Given the description of an element on the screen output the (x, y) to click on. 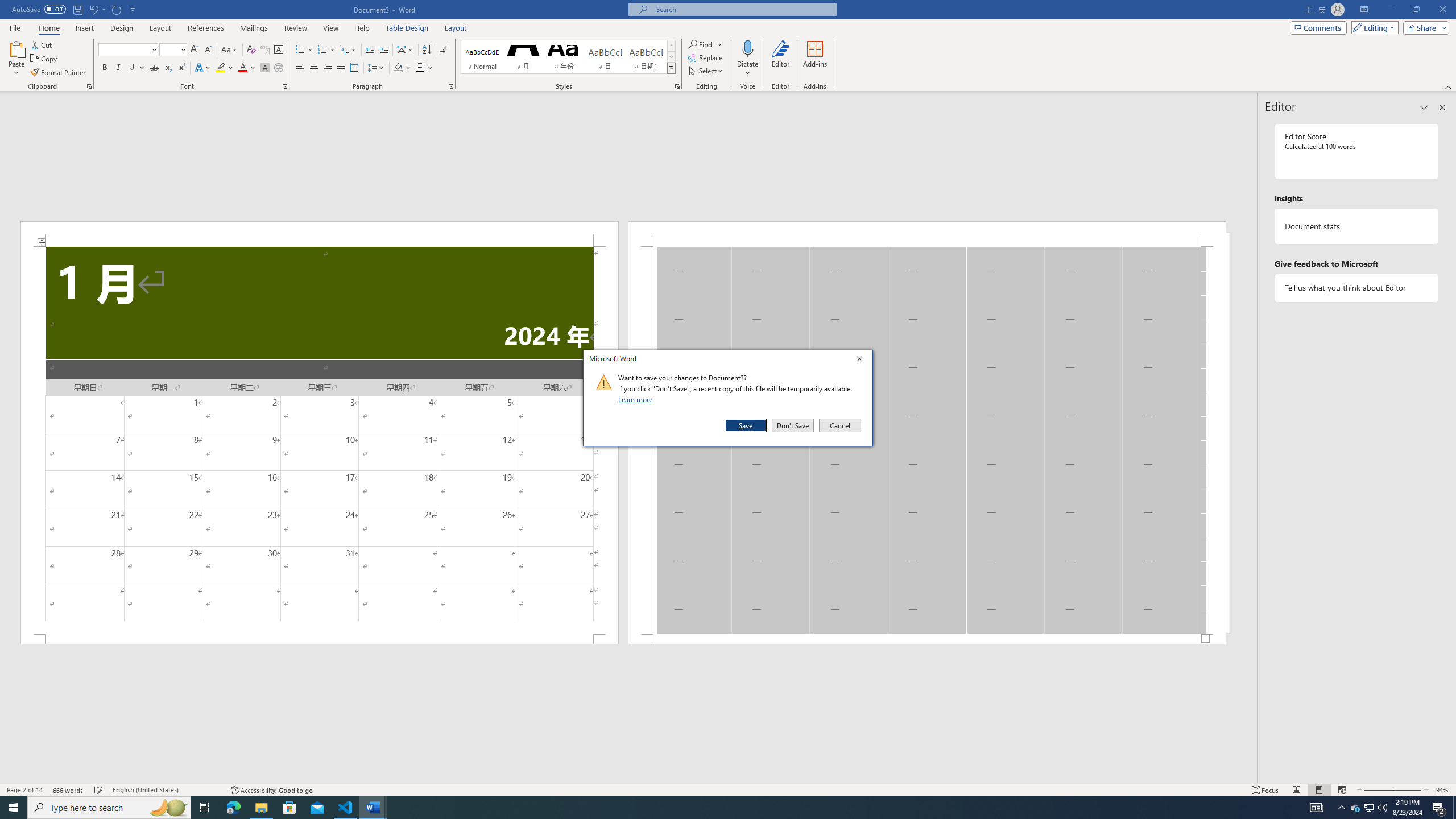
Align Right (327, 67)
Italic (118, 67)
Search highlights icon opens search home window (167, 807)
Cancel (839, 425)
Character Border (278, 49)
Font Color (246, 67)
Center (313, 67)
Don't Save (792, 425)
